Given the description of an element on the screen output the (x, y) to click on. 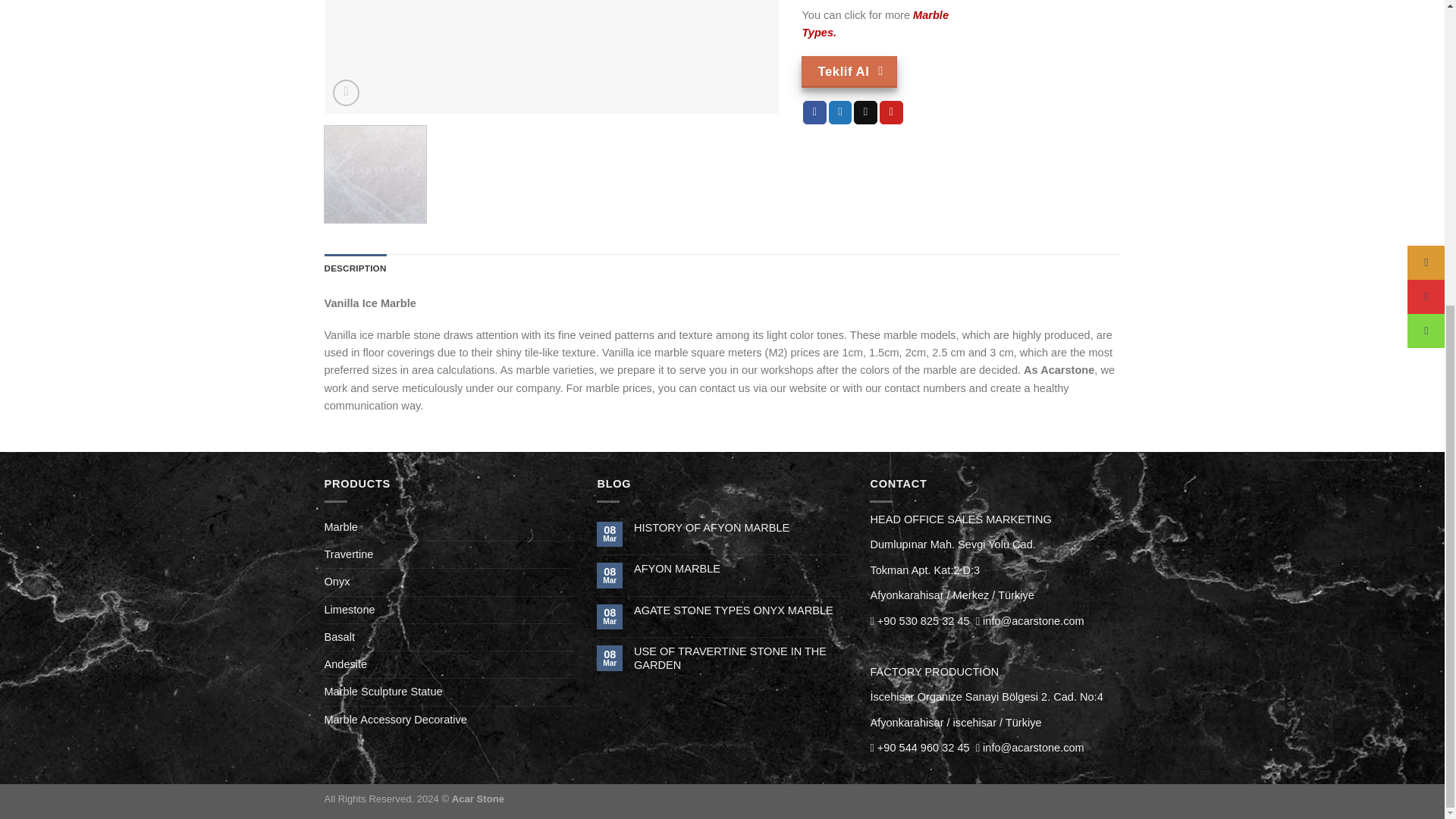
Zoom (346, 92)
Share on Facebook (815, 112)
Email to a Friend (865, 112)
Pin on Pinterest (890, 112)
Vanilla-Ice-Marble (551, 56)
Share on Twitter (839, 112)
